Given the description of an element on the screen output the (x, y) to click on. 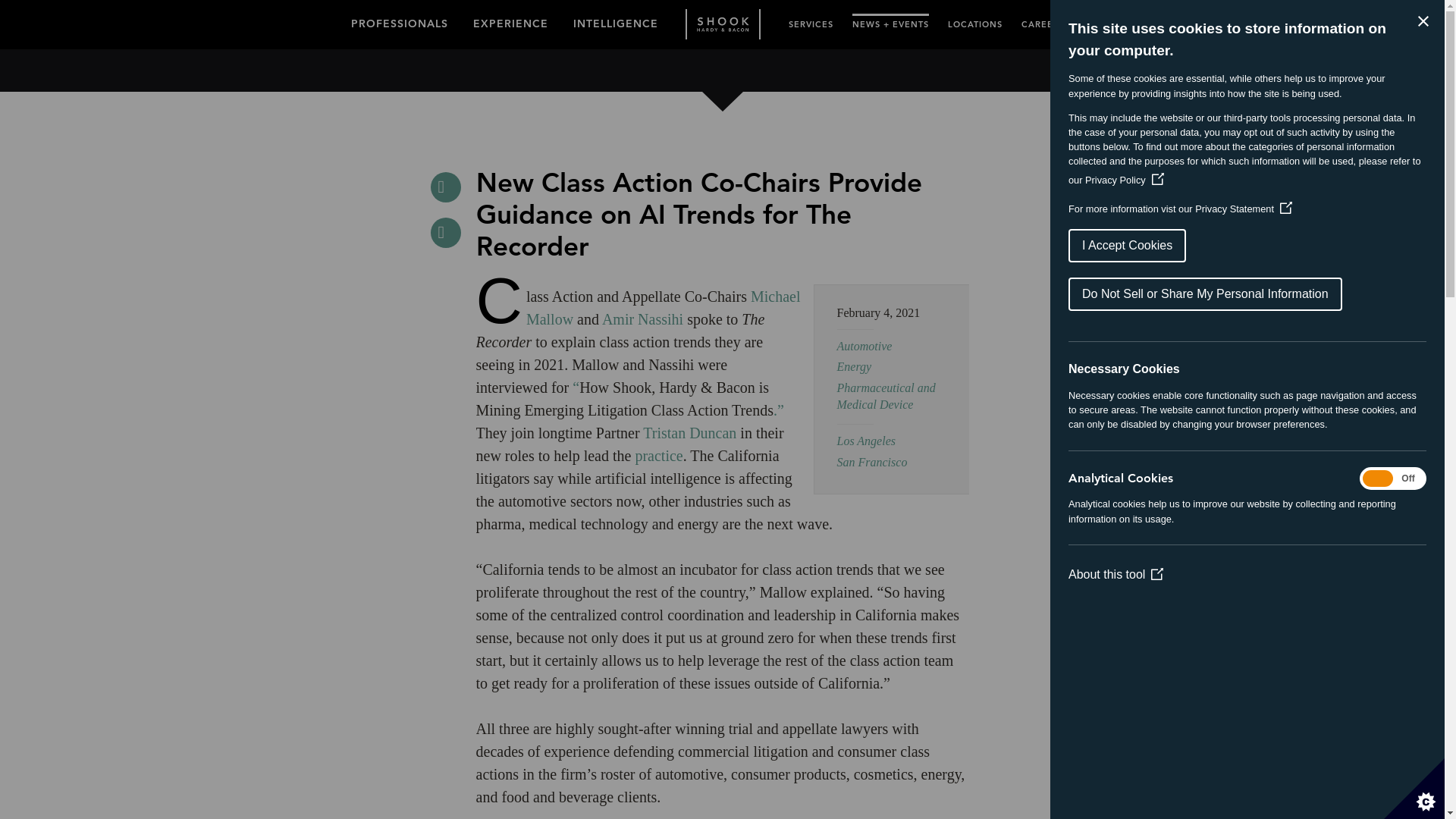
San Francisco (872, 461)
CAREERS (1042, 21)
Automotive (864, 345)
Tristan Duncan (691, 433)
EXPERIENCE (510, 20)
Amir Nassihi (640, 319)
I Accept Cookies (1325, 245)
practice (658, 455)
SERVICES (810, 21)
Michael Mallow (662, 307)
Los Angeles (866, 440)
LOCATIONS (975, 21)
INTELLIGENCE (615, 20)
PROFESSIONALS (398, 20)
Pharmaceutical and Medical Device (886, 396)
